Given the description of an element on the screen output the (x, y) to click on. 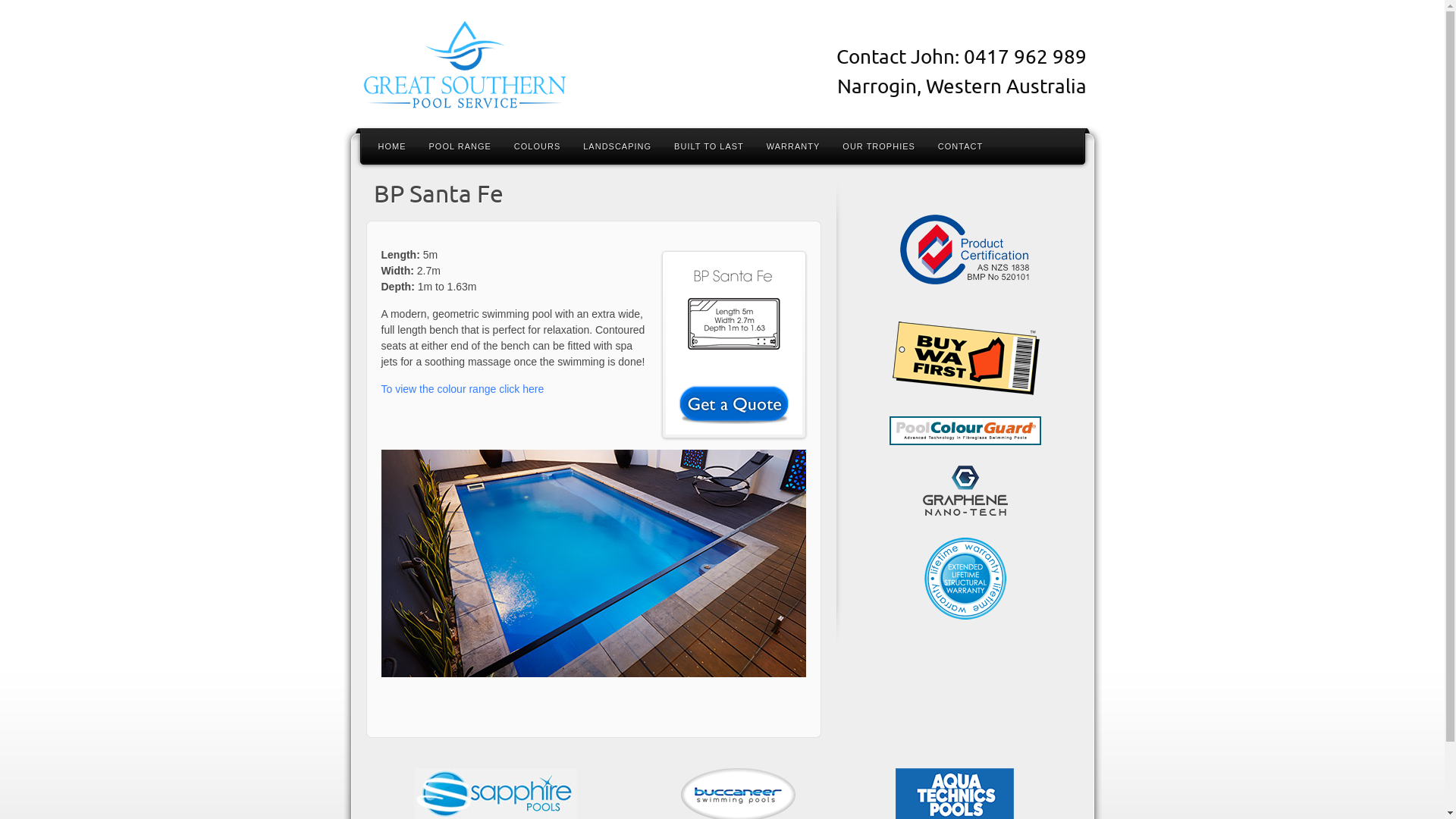
CONTACT Element type: text (960, 145)
HOME Element type: text (392, 145)
BUILT TO LAST Element type: text (708, 145)
To view the colour range click here Element type: text (461, 388)
OUR TROPHIES Element type: text (878, 145)
  Element type: text (964, 303)
LANDSCAPING Element type: text (616, 145)
COLOURS Element type: text (536, 145)
WARRANTY Element type: text (793, 145)
Great Southern Pool Service Element type: hover (509, 66)
POOL RANGE Element type: text (459, 145)
